Given the description of an element on the screen output the (x, y) to click on. 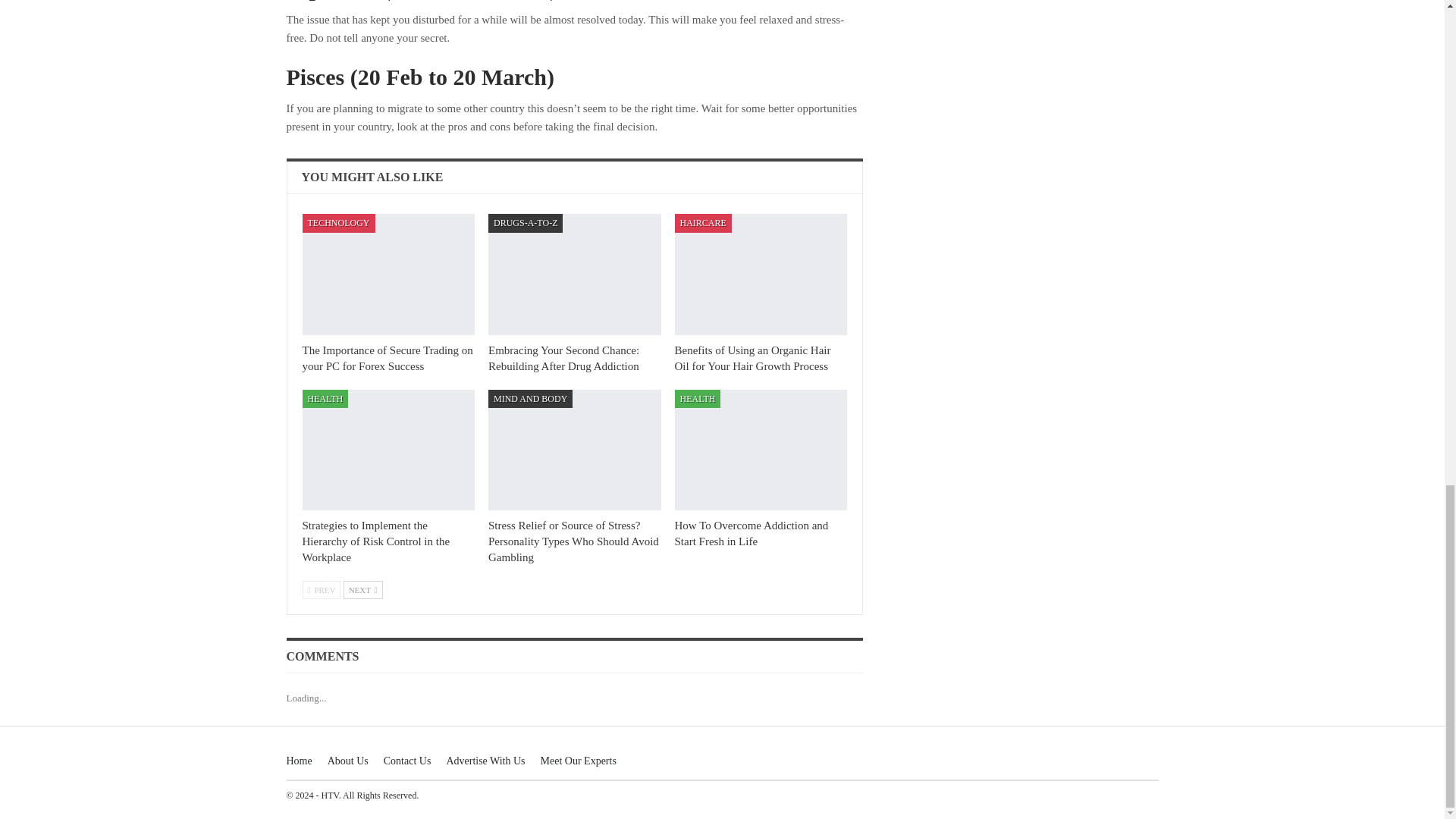
How To Overcome Addiction and Start Fresh in Life (761, 449)
Previous (320, 589)
How To Overcome Addiction and Start Fresh in Life (751, 533)
Homepage (299, 760)
Contact us (407, 760)
Next (362, 589)
About us (347, 760)
